Given the description of an element on the screen output the (x, y) to click on. 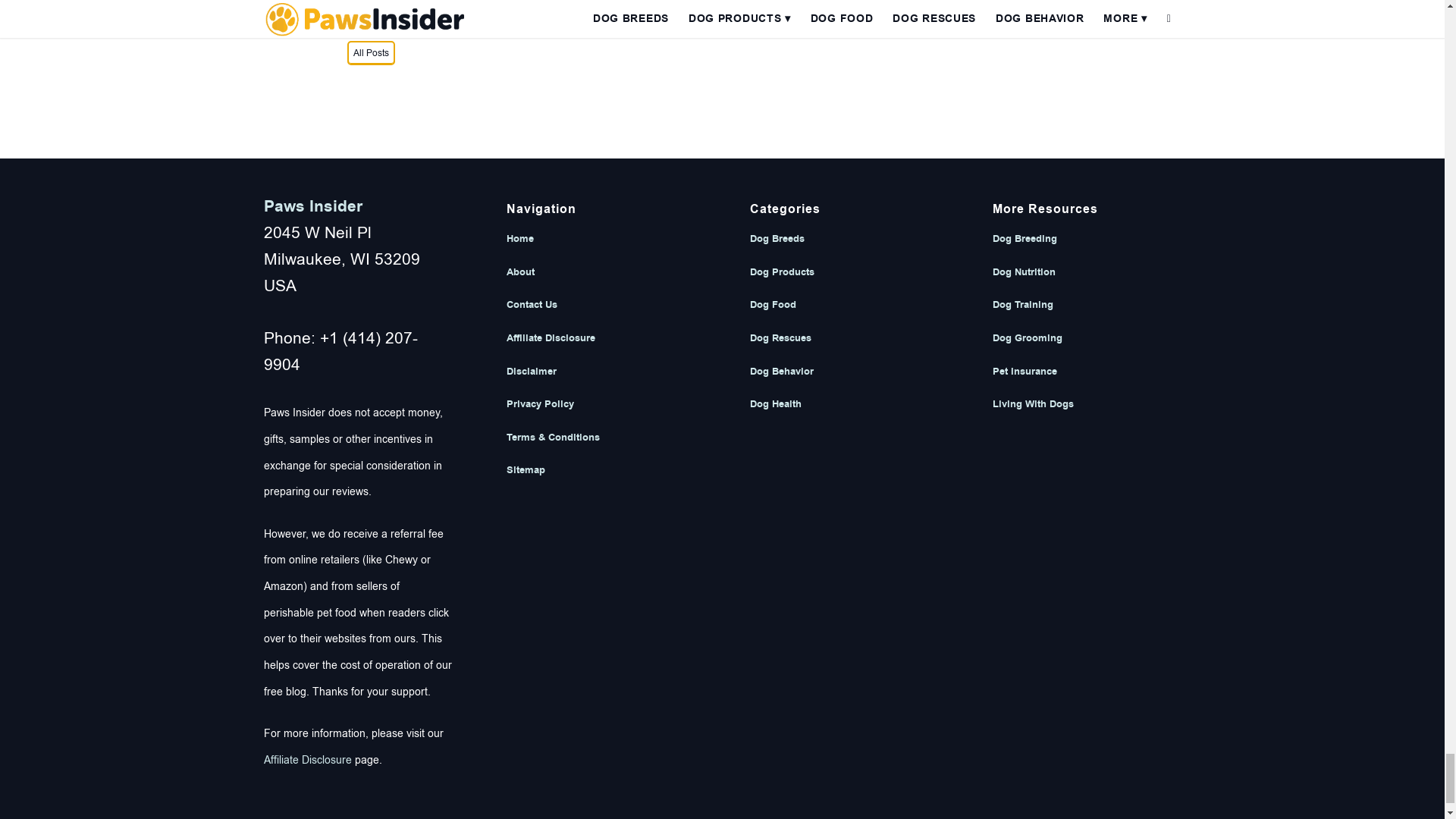
All Posts (370, 52)
